Given the description of an element on the screen output the (x, y) to click on. 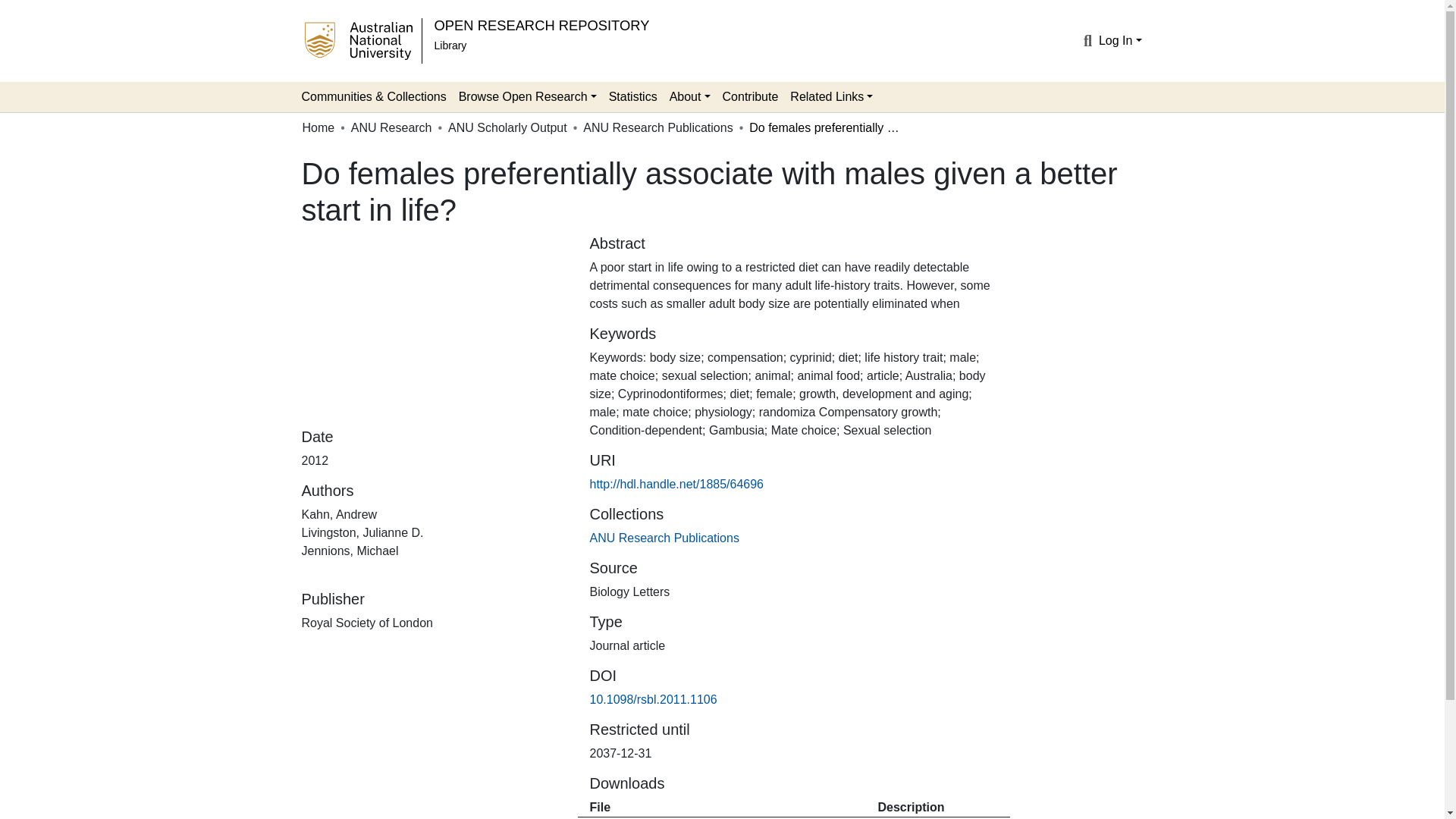
ANU Research Publications (663, 537)
OPEN RESEARCH REPOSITORY (541, 25)
Related Links (831, 96)
Log In (1119, 40)
Library (449, 45)
About (689, 96)
Home (317, 127)
Browse Open Research (527, 96)
Contribute (750, 96)
ANU Scholarly Output (507, 127)
